Given the description of an element on the screen output the (x, y) to click on. 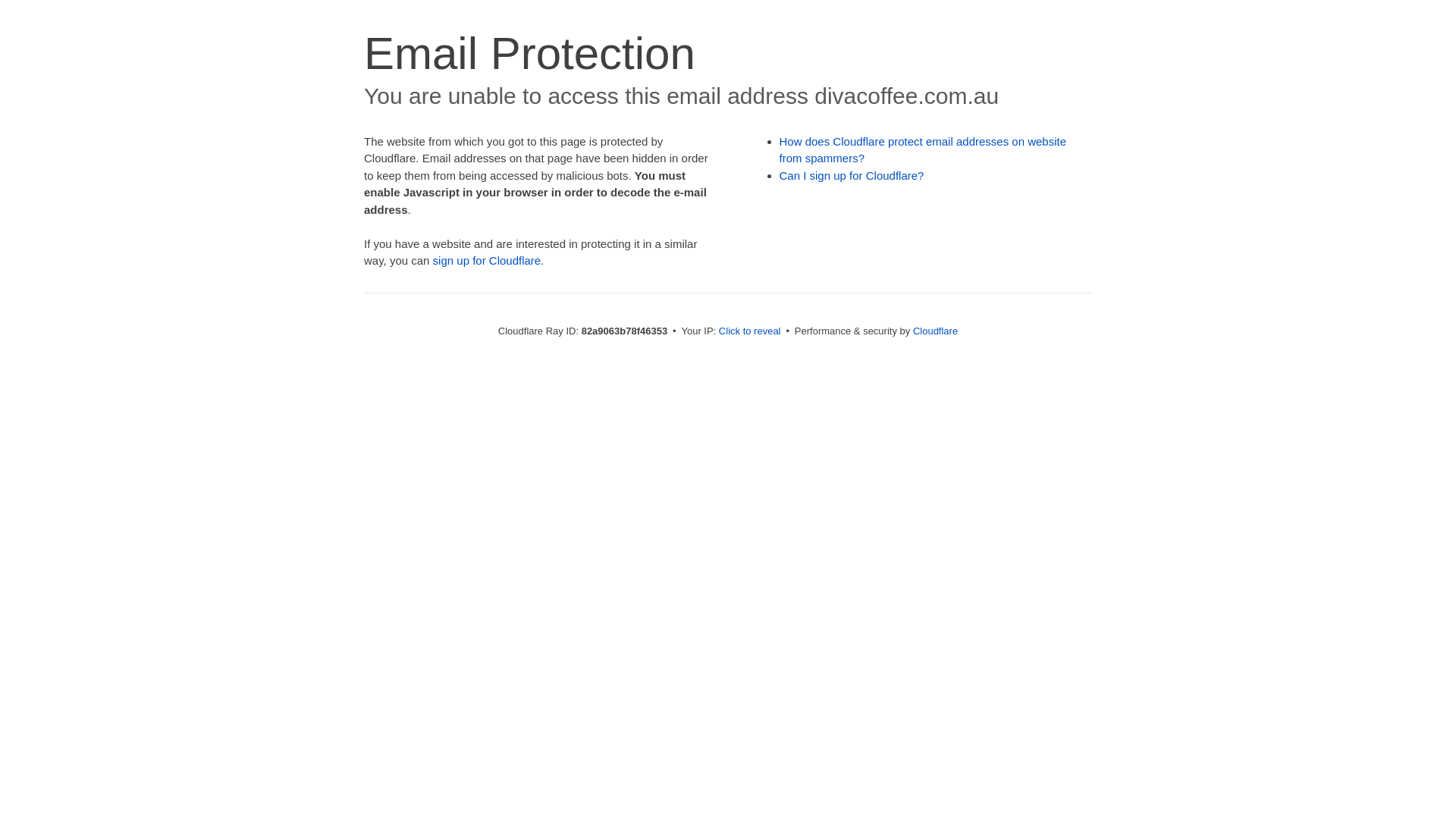
sign up for Cloudflare Element type: text (487, 260)
Cloudflare Element type: text (935, 330)
Can I sign up for Cloudflare? Element type: text (851, 175)
Click to reveal Element type: text (749, 330)
